Given the description of an element on the screen output the (x, y) to click on. 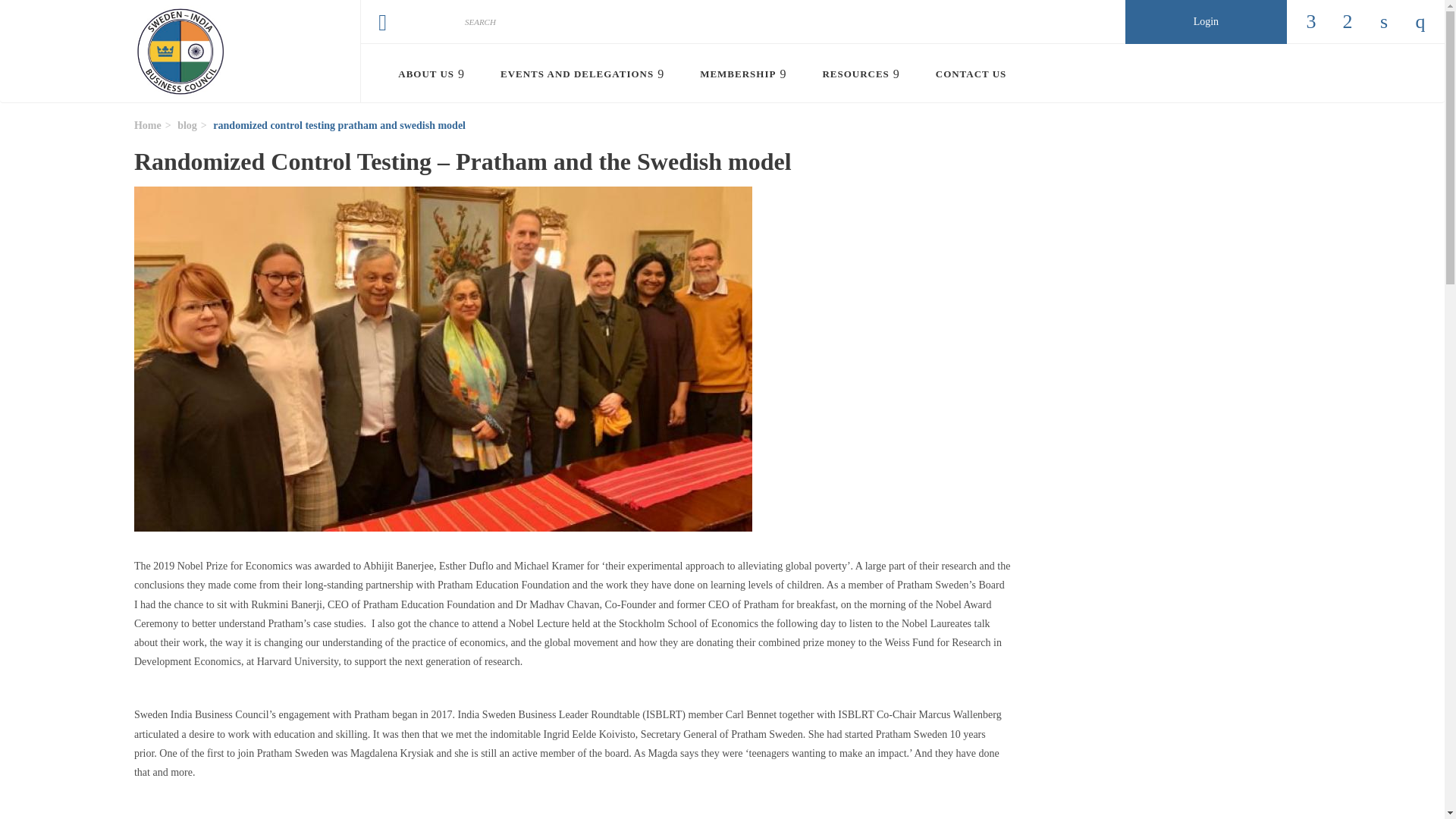
EVENTS AND DELEGATIONS (588, 74)
CONTACT US (965, 74)
ABOUT US (438, 74)
Home (180, 51)
Login (1206, 22)
